Given the description of an element on the screen output the (x, y) to click on. 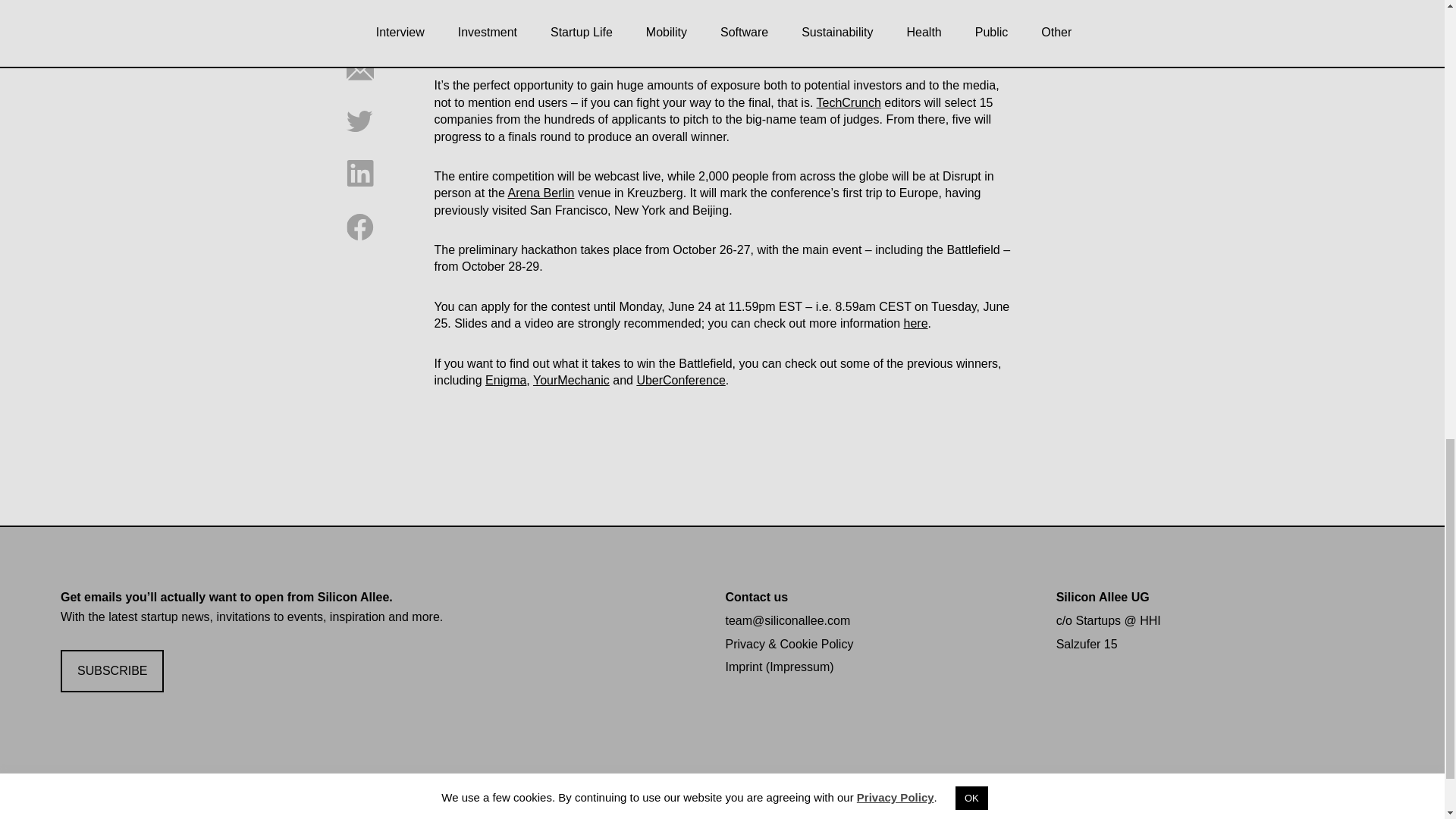
Salzufer 15 (1087, 644)
UberConference (680, 379)
Contact us (756, 596)
YourMechanic (571, 379)
here (916, 323)
SUBSCRIBE (112, 671)
Silicon Allee UG (1103, 596)
TechCrunch (847, 102)
Enigma (504, 379)
Arena Berlin (539, 192)
